Given the description of an element on the screen output the (x, y) to click on. 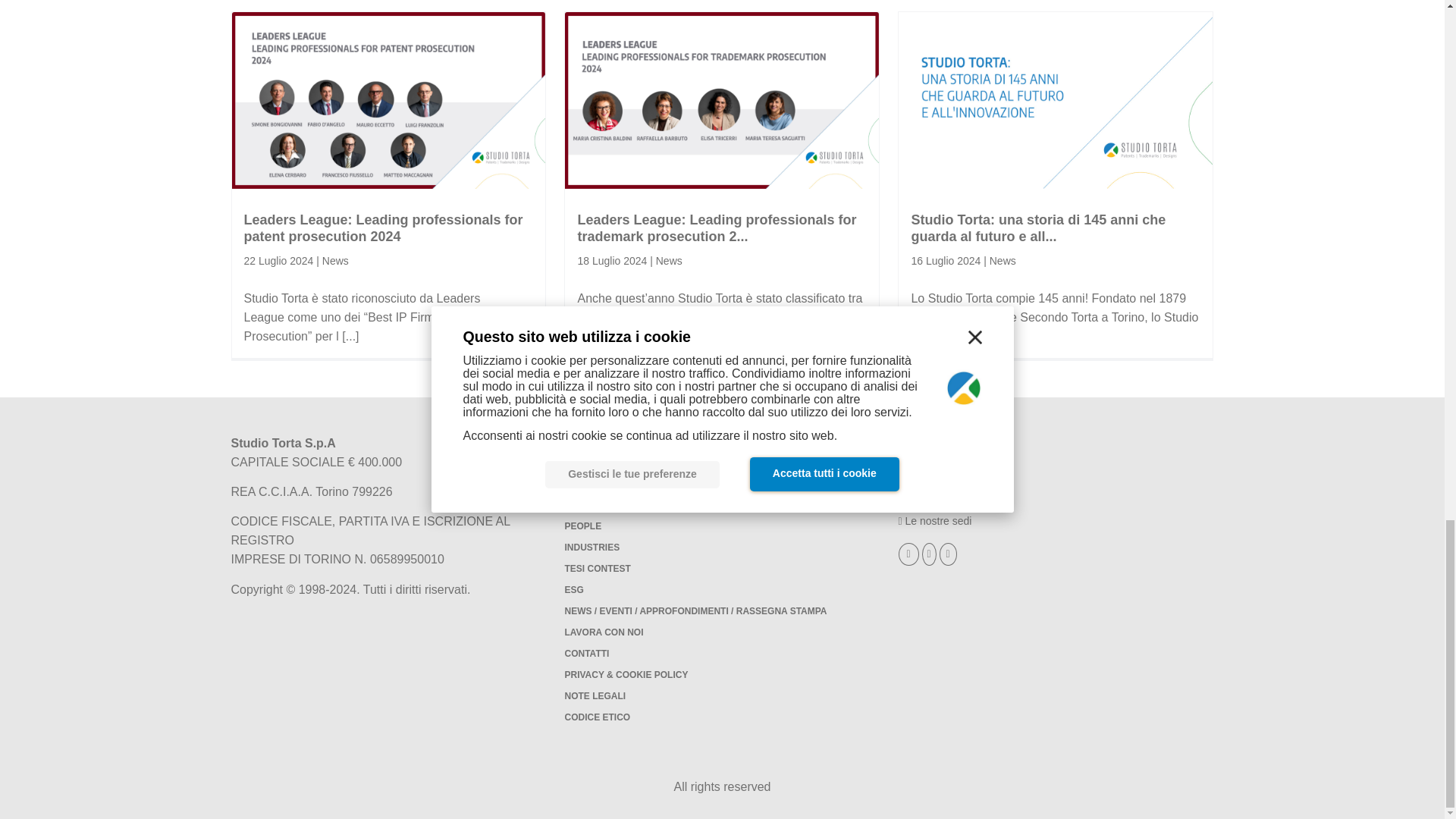
PEOPLE (582, 526)
Pagina LinkedIn (947, 553)
INDUSTRIES (592, 548)
Canale YouTube (930, 553)
STUDIO TORTA (597, 485)
TESI CONTEST (597, 569)
ESG (573, 590)
Pagina Facebook (909, 553)
